Given the description of an element on the screen output the (x, y) to click on. 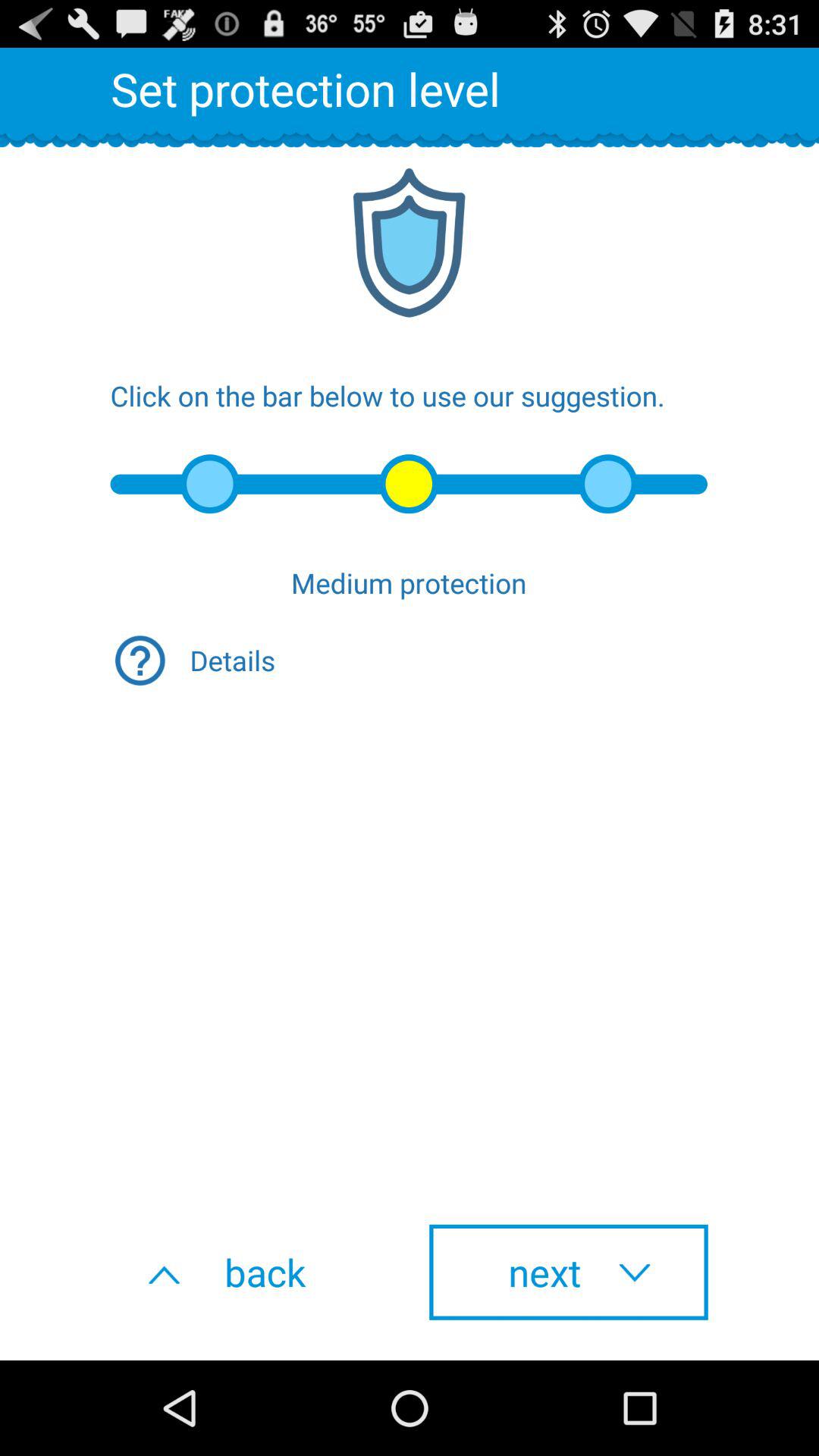
click the icon at the bottom left corner (249, 1272)
